Given the description of an element on the screen output the (x, y) to click on. 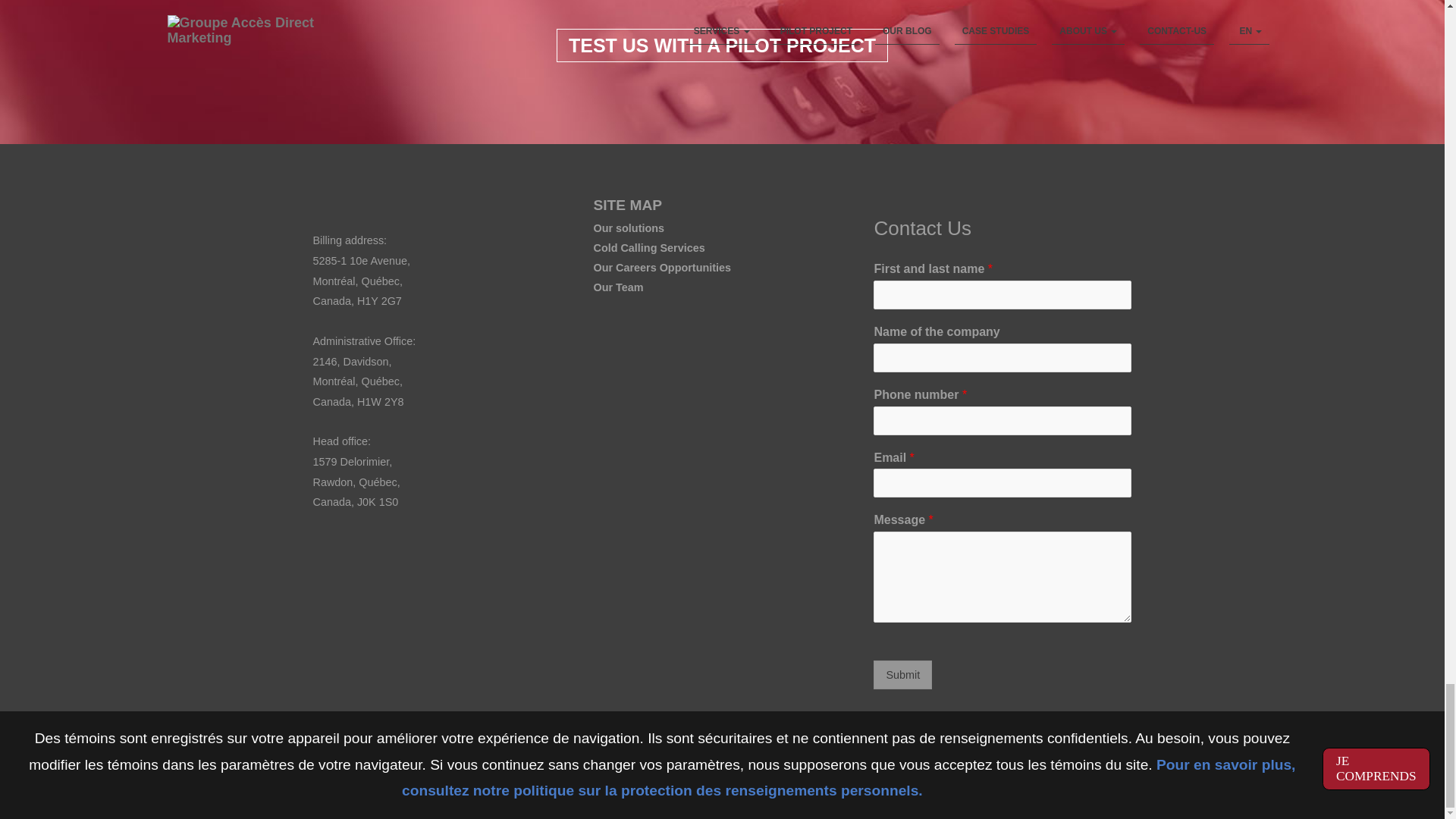
Our solutions (627, 227)
Our Careers Opportunities (661, 267)
Our Team (617, 287)
TEST US WITH A PILOT PROJECT (722, 45)
Cold Calling Services (648, 247)
Submit (902, 674)
